Given the description of an element on the screen output the (x, y) to click on. 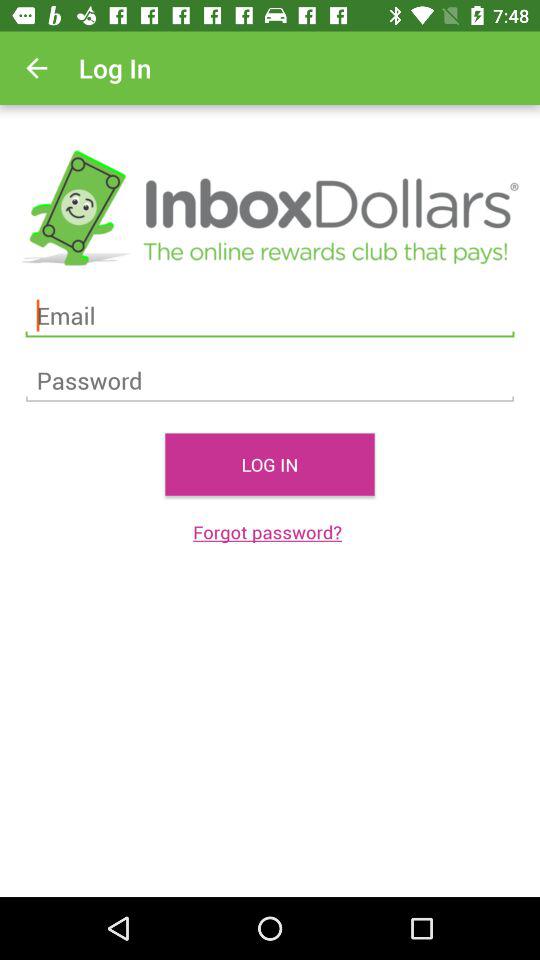
enter password for login (270, 380)
